Given the description of an element on the screen output the (x, y) to click on. 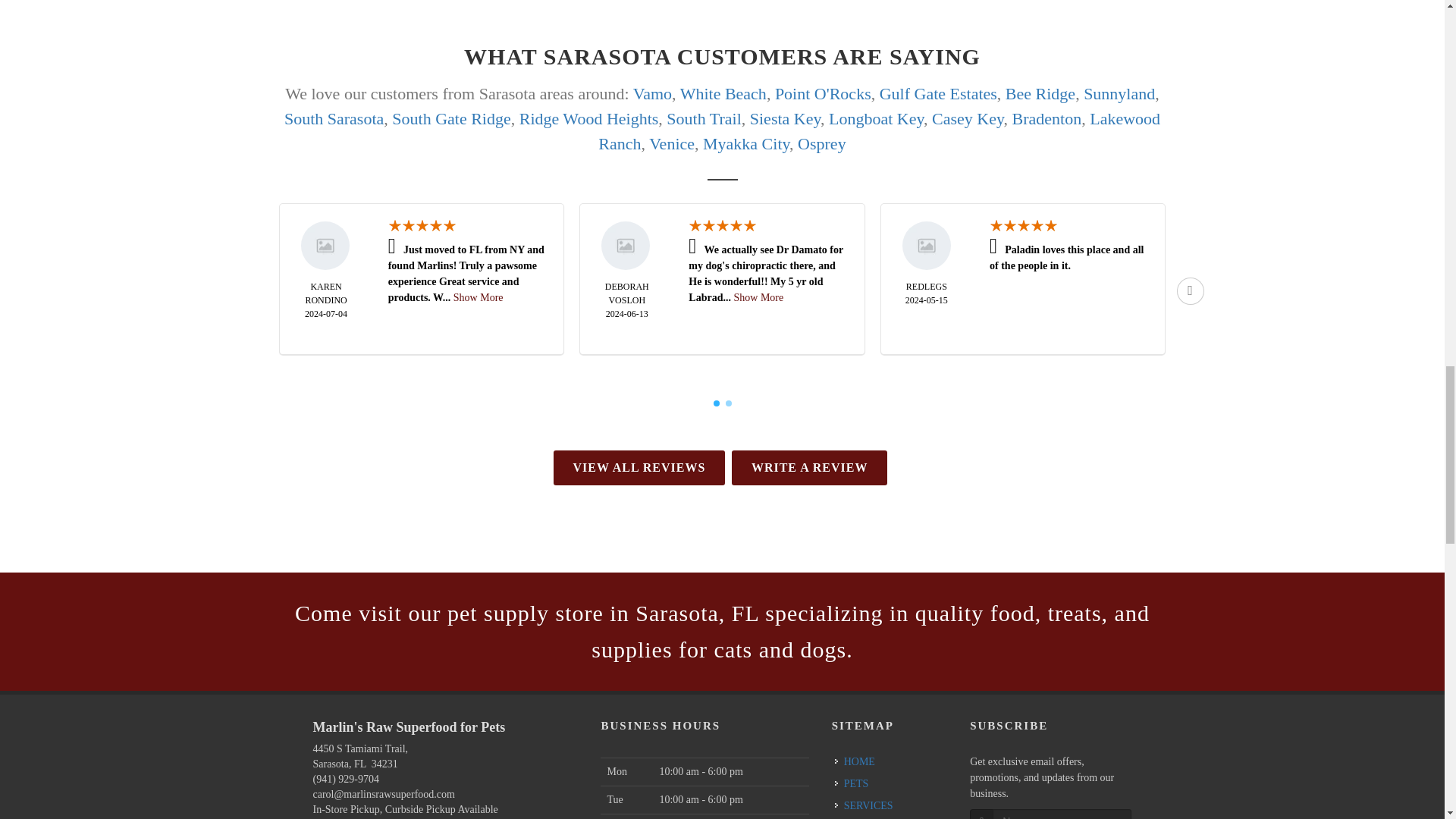
Vamo (652, 93)
